Given the description of an element on the screen output the (x, y) to click on. 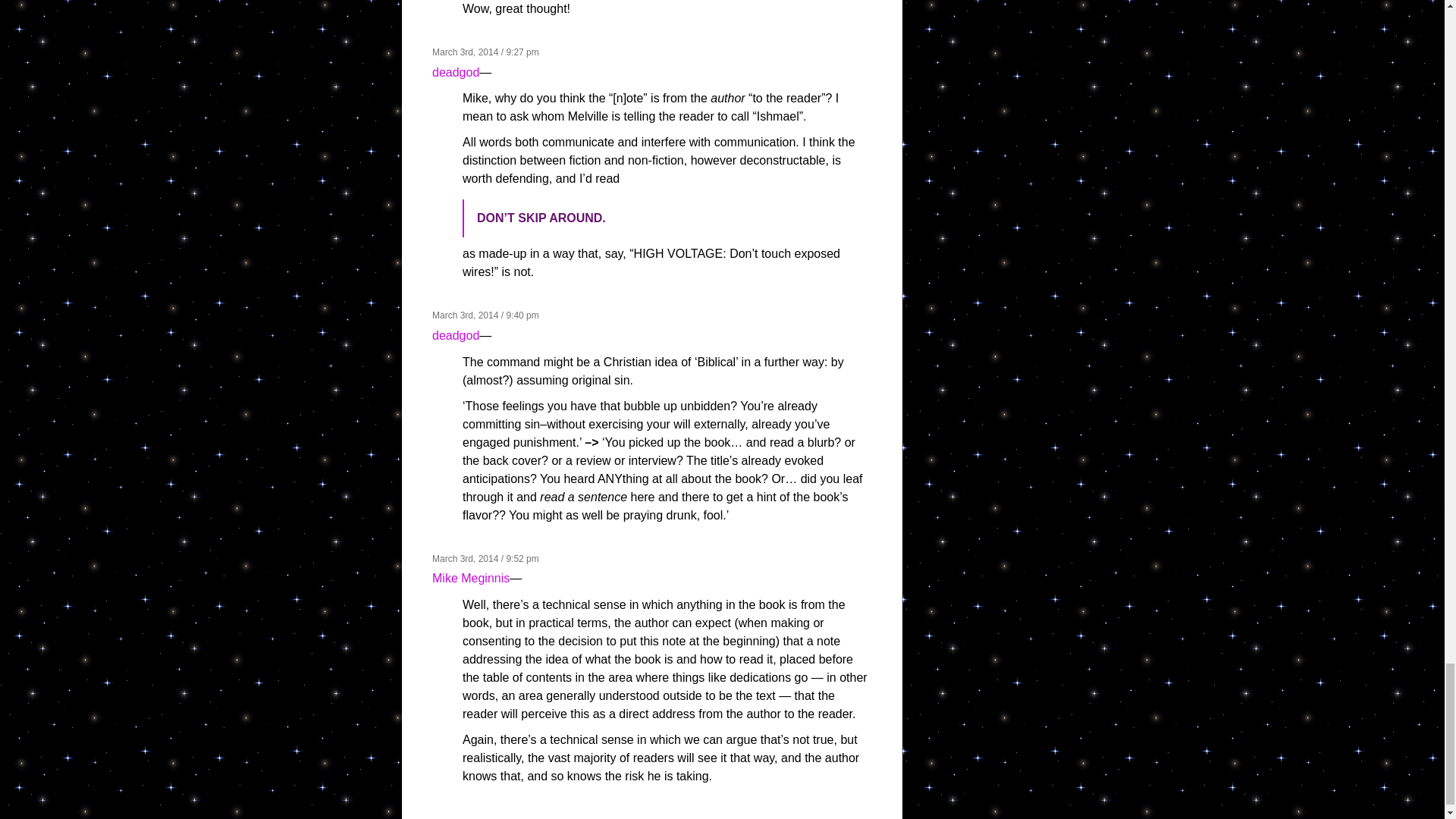
Mike Meginnis (470, 577)
deadgod (455, 335)
deadgod (455, 72)
